Given the description of an element on the screen output the (x, y) to click on. 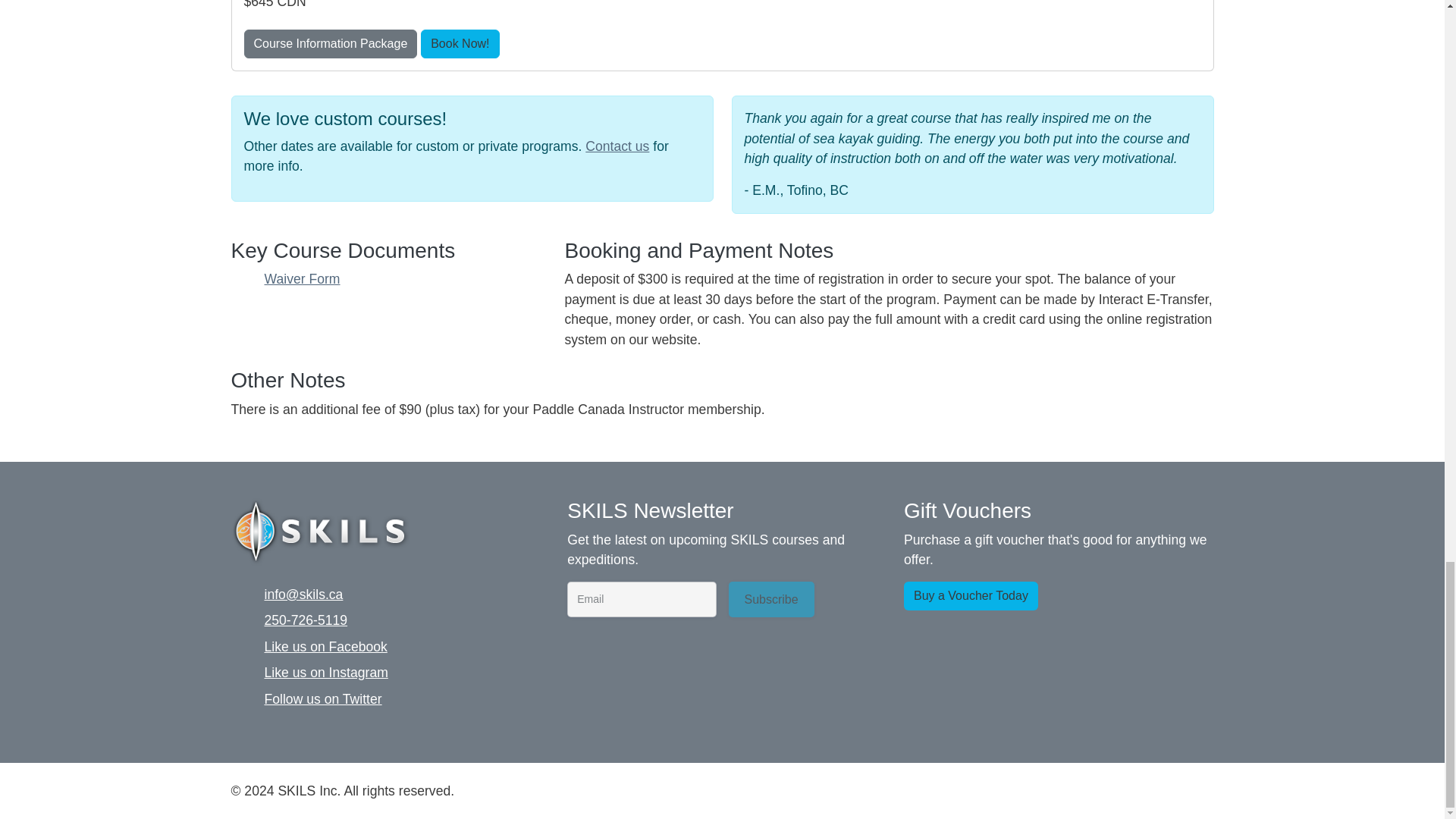
Subscribe (770, 599)
